Given the description of an element on the screen output the (x, y) to click on. 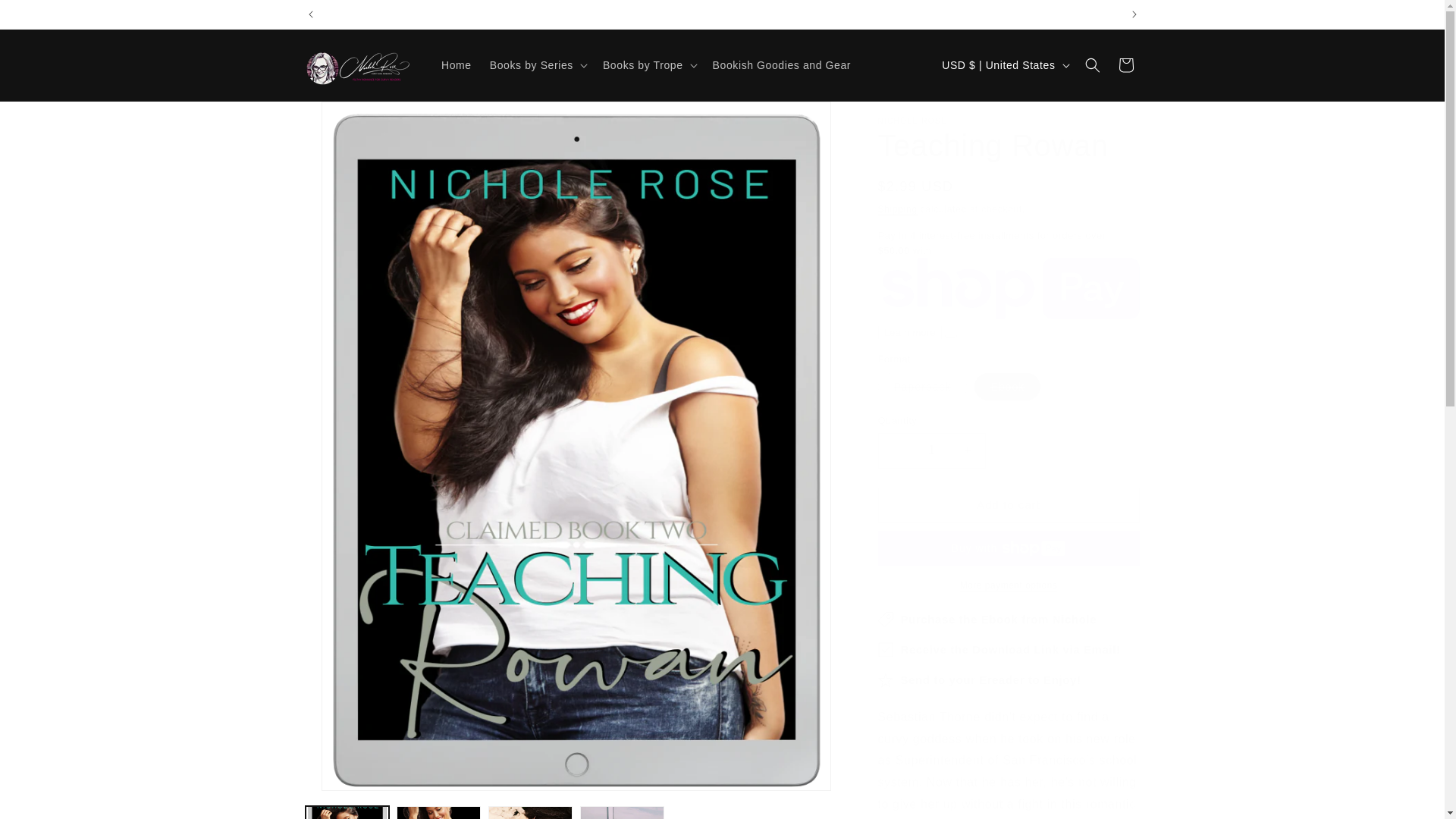
Skip to content (45, 17)
1 (931, 450)
